Given the description of an element on the screen output the (x, y) to click on. 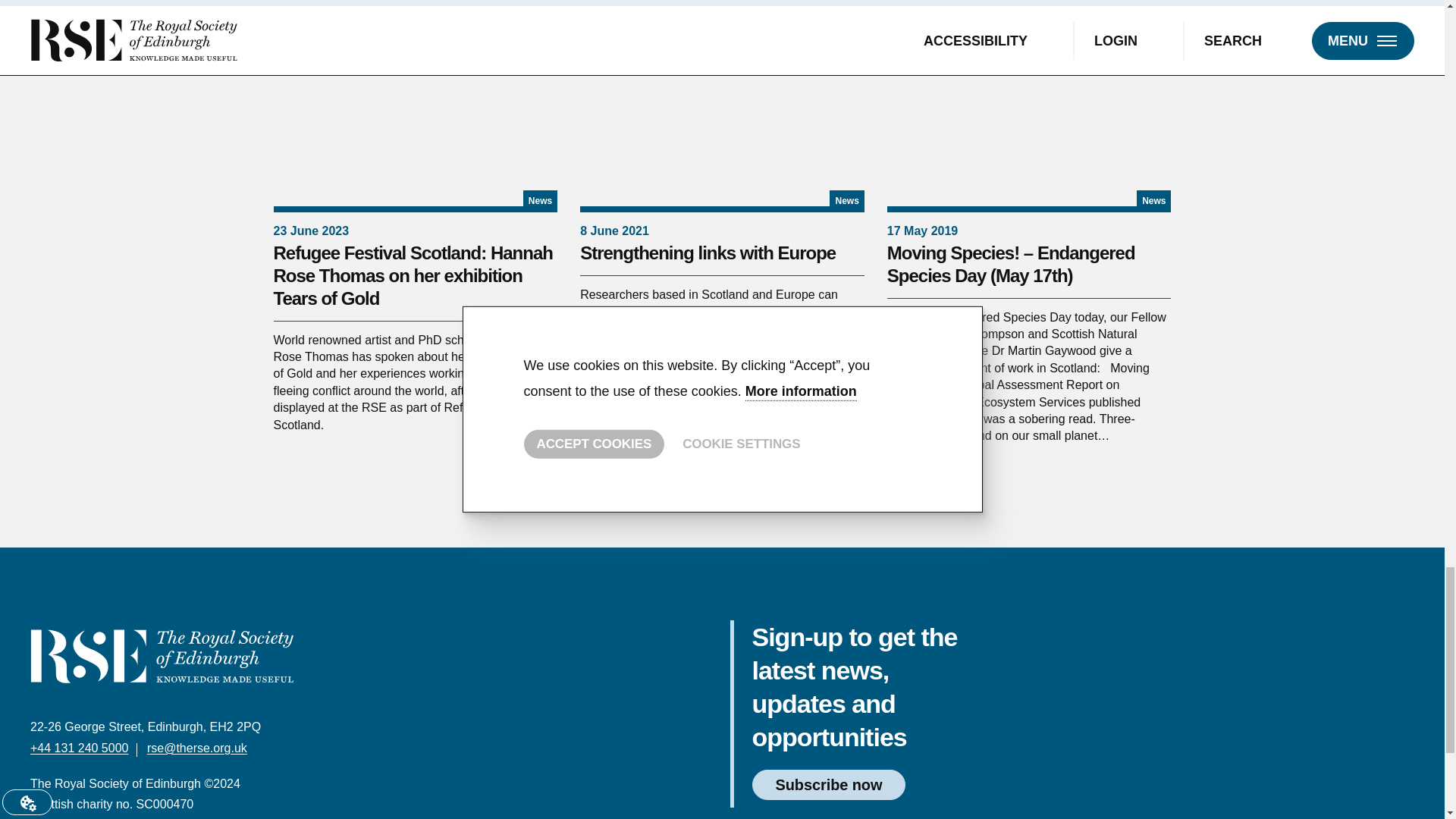
Strengthening links with Europe (721, 106)
